Given the description of an element on the screen output the (x, y) to click on. 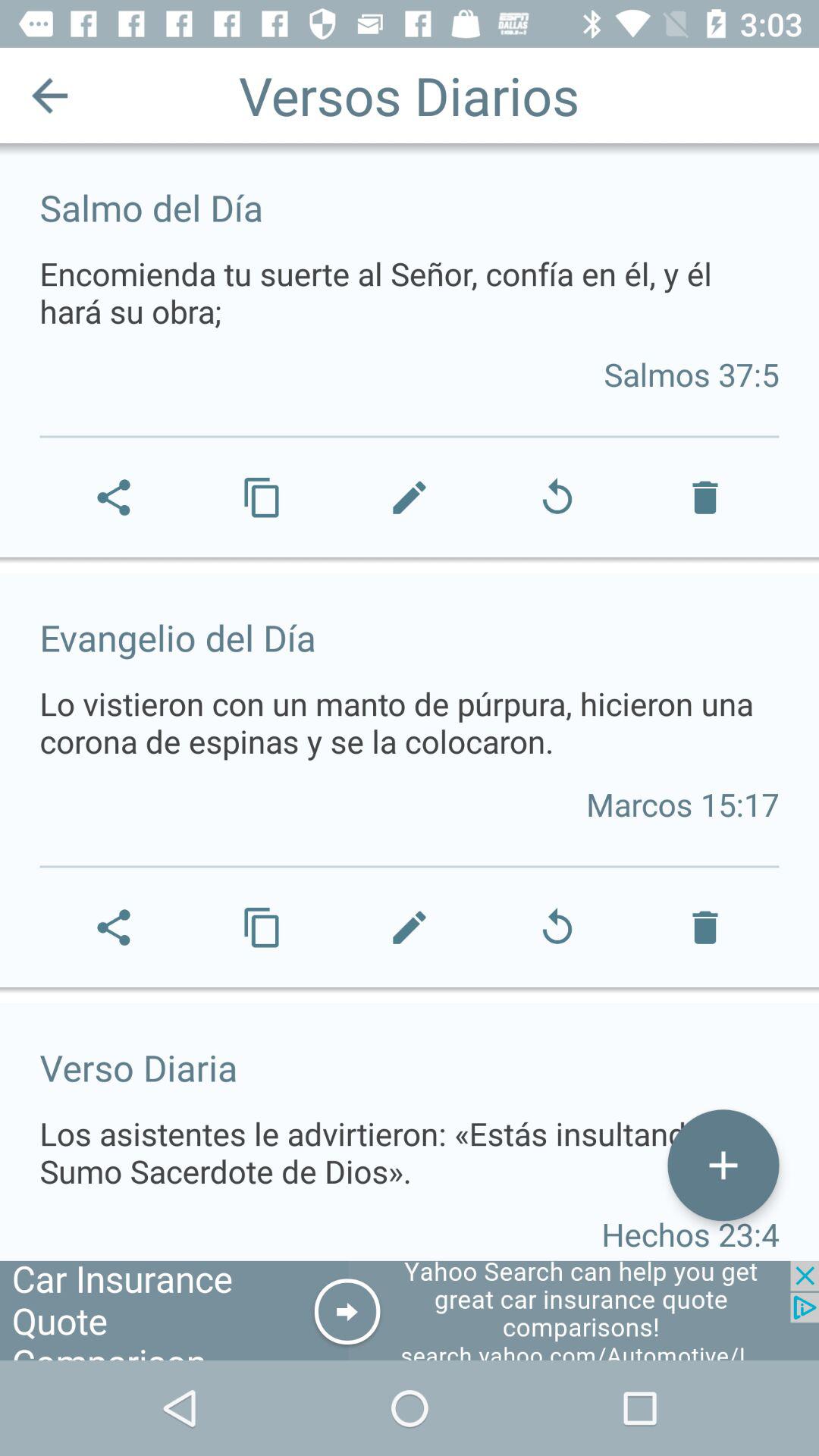
find more information about advertisement (409, 1310)
